Given the description of an element on the screen output the (x, y) to click on. 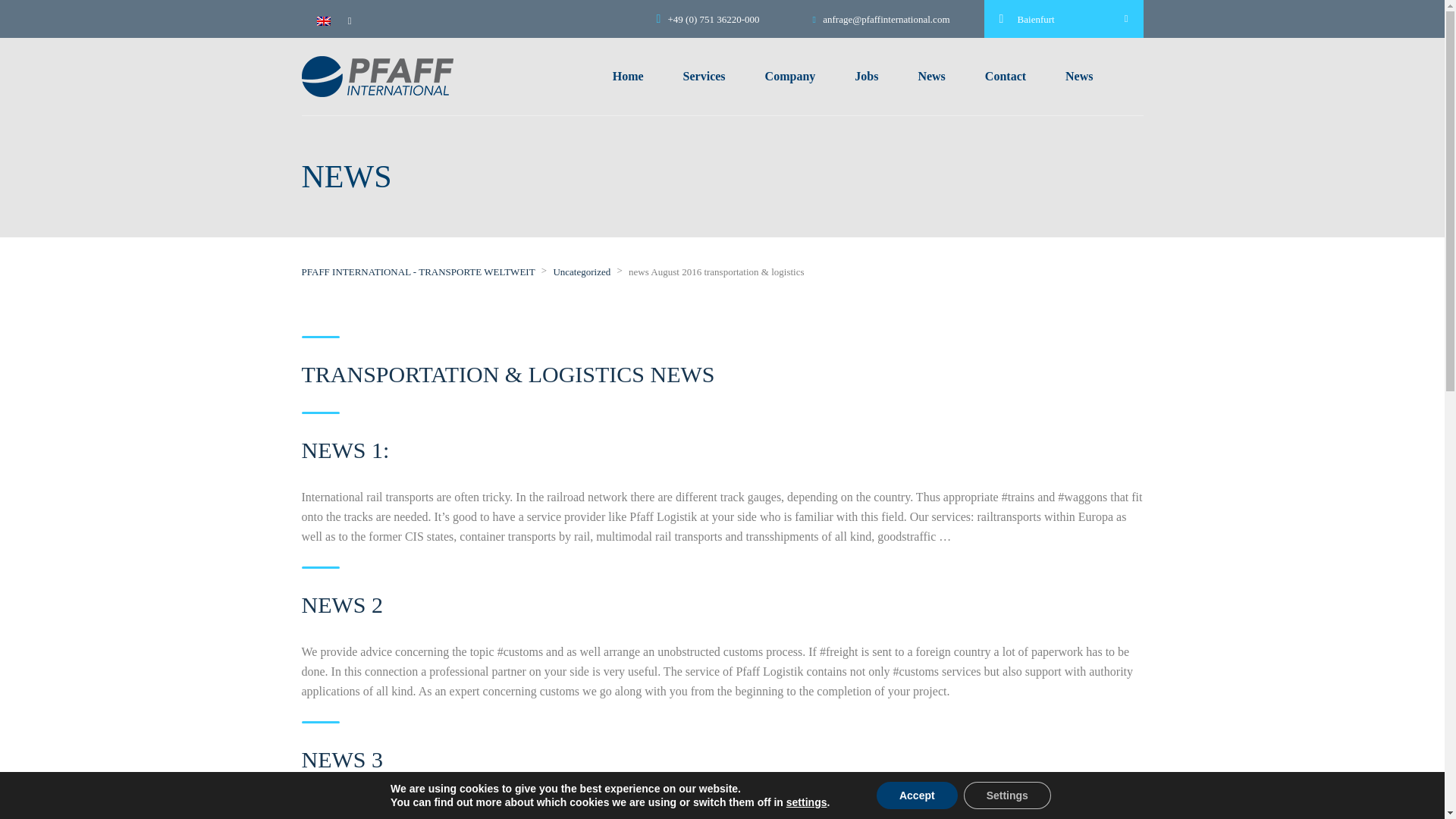
Go to the Uncategorized Category archives. (581, 271)
Go to PFAFF INTERNATIONAL - TRANSPORTE WELTWEIT. (418, 271)
